Given the description of an element on the screen output the (x, y) to click on. 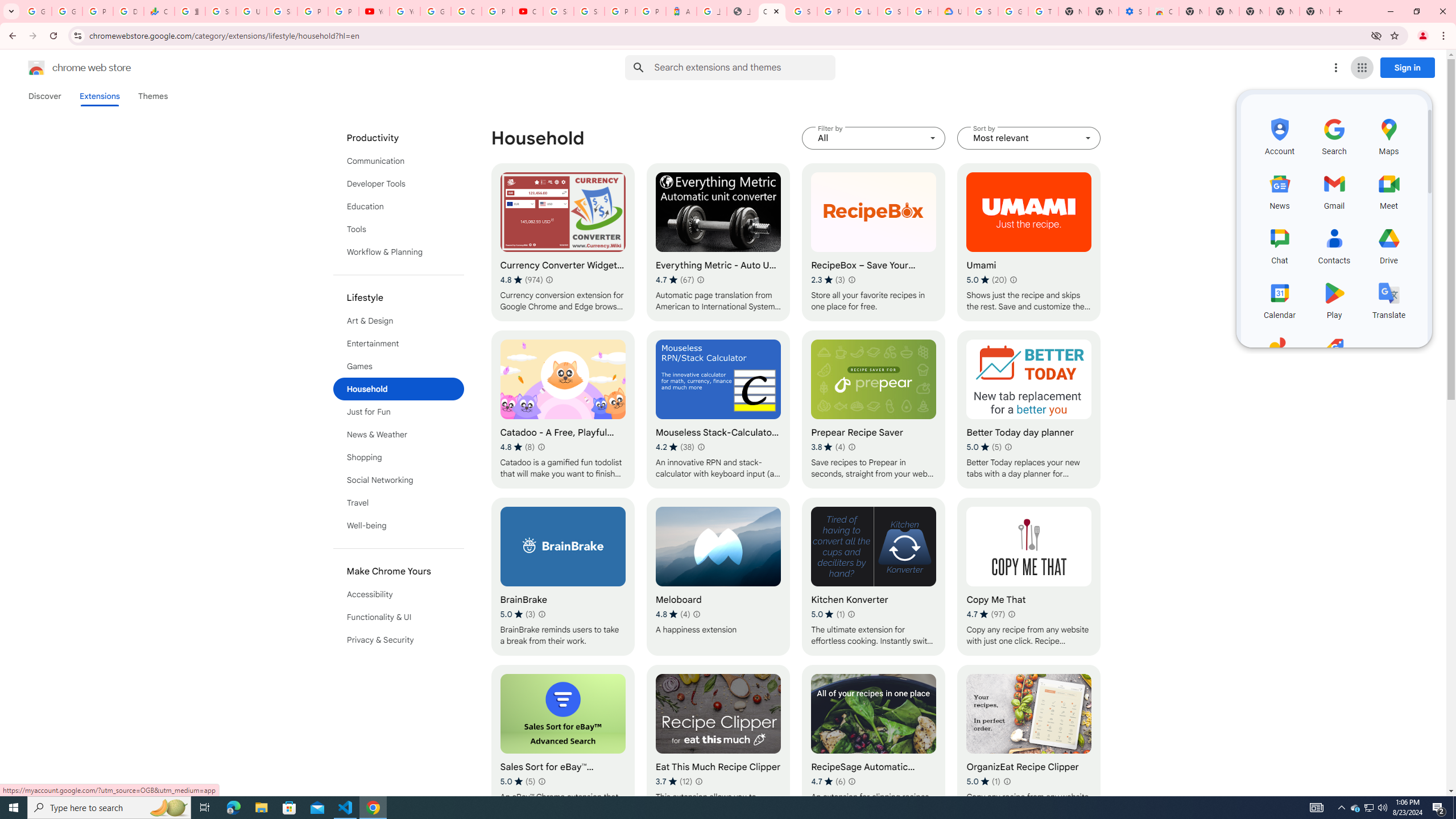
Average rating 4.8 out of 5 stars. 4 ratings. (672, 613)
Household (selected) (398, 388)
Privacy Checkup (343, 11)
Just for Fun (398, 411)
News & Weather (398, 434)
Average rating 3.8 out of 5 stars. 4 ratings. (827, 446)
Turn cookies on or off - Computer - Google Account Help (1042, 11)
Sign in - Google Accounts (801, 11)
Learn more about results and reviews "Meloboard" (696, 613)
